Given the description of an element on the screen output the (x, y) to click on. 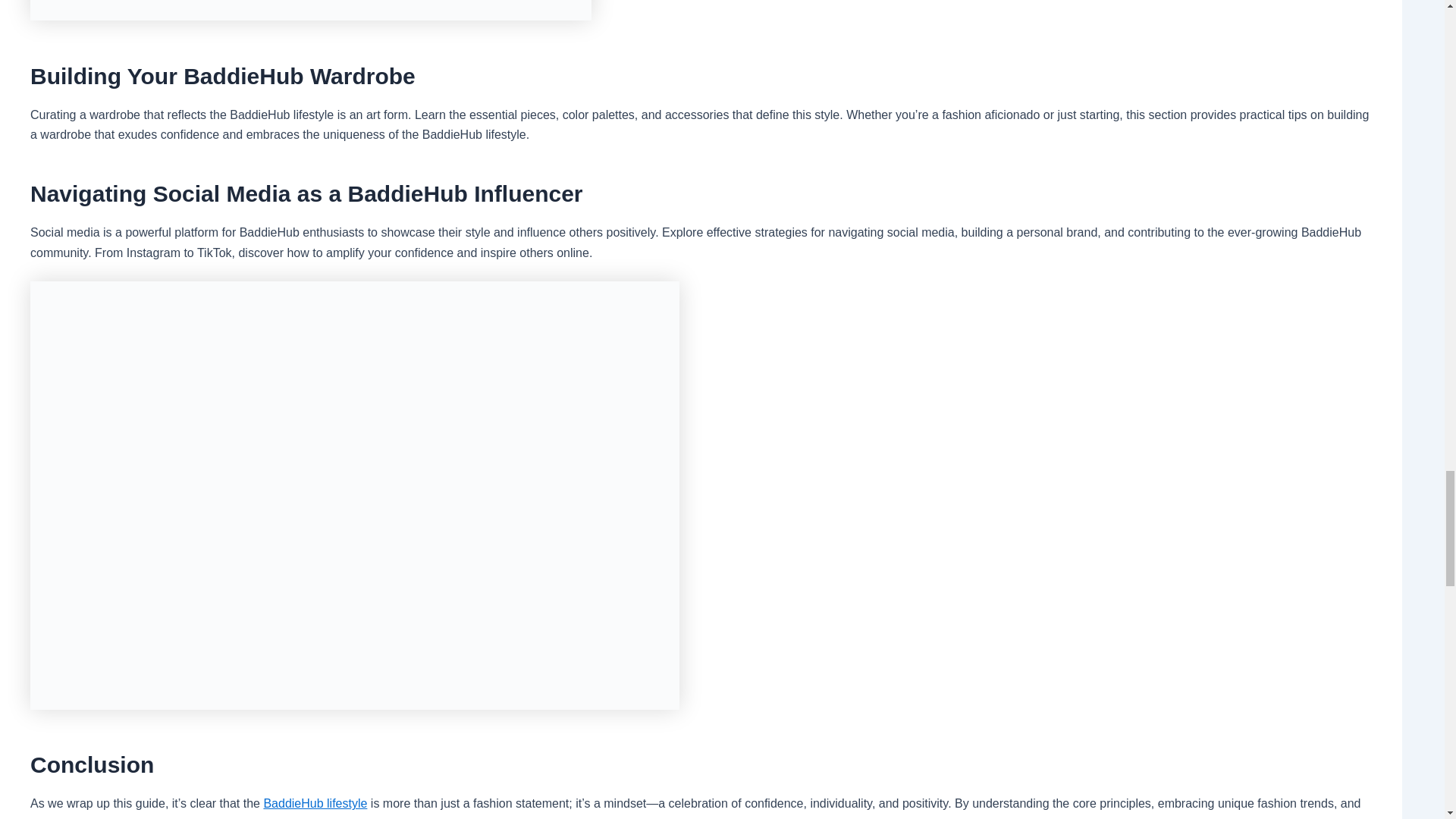
BaddieHub lifestyle (314, 802)
